Given the description of an element on the screen output the (x, y) to click on. 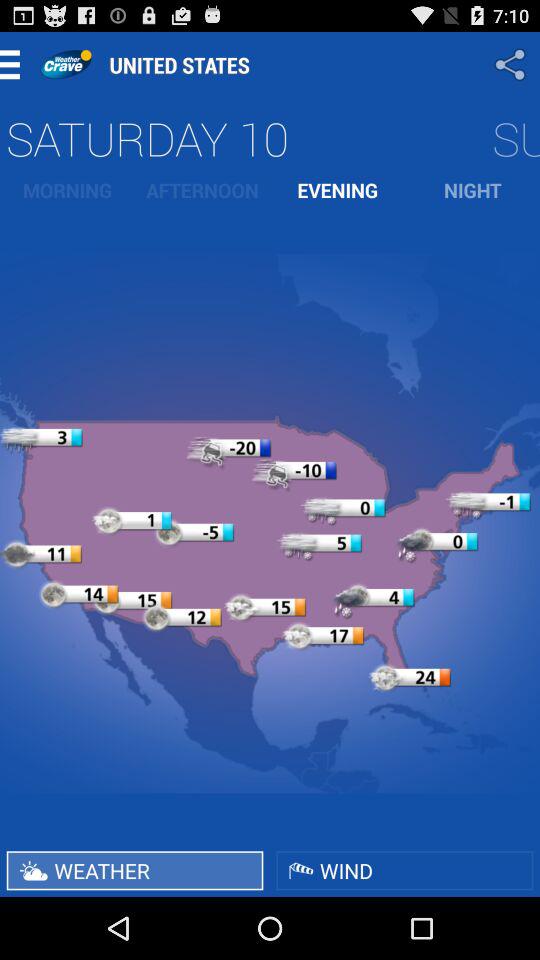
press the item to the right of the afternoon icon (337, 190)
